Given the description of an element on the screen output the (x, y) to click on. 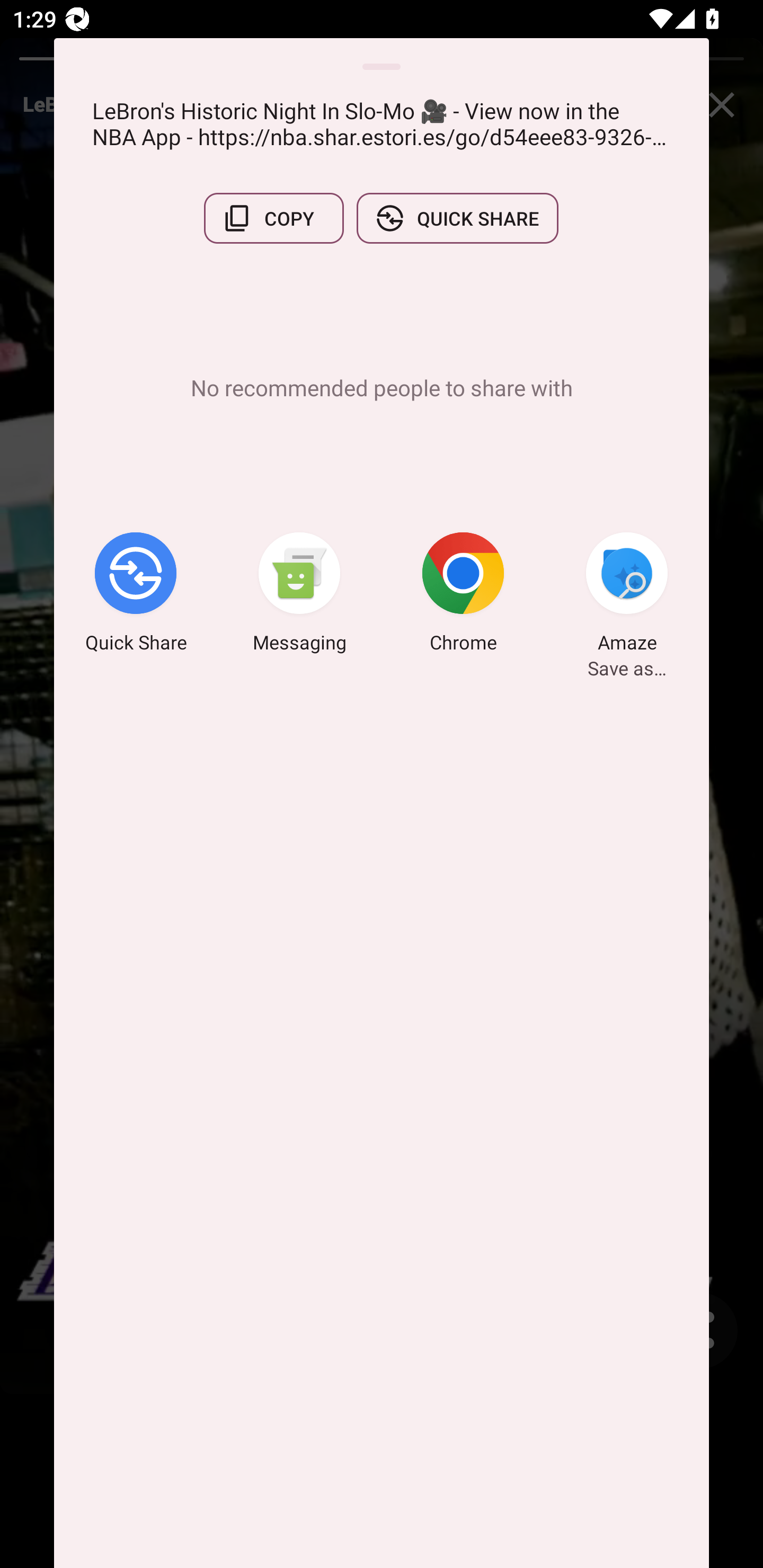
COPY (273, 218)
QUICK SHARE (457, 218)
Quick Share (135, 594)
Messaging (299, 594)
Chrome (463, 594)
Amaze Save as… (626, 594)
